Given the description of an element on the screen output the (x, y) to click on. 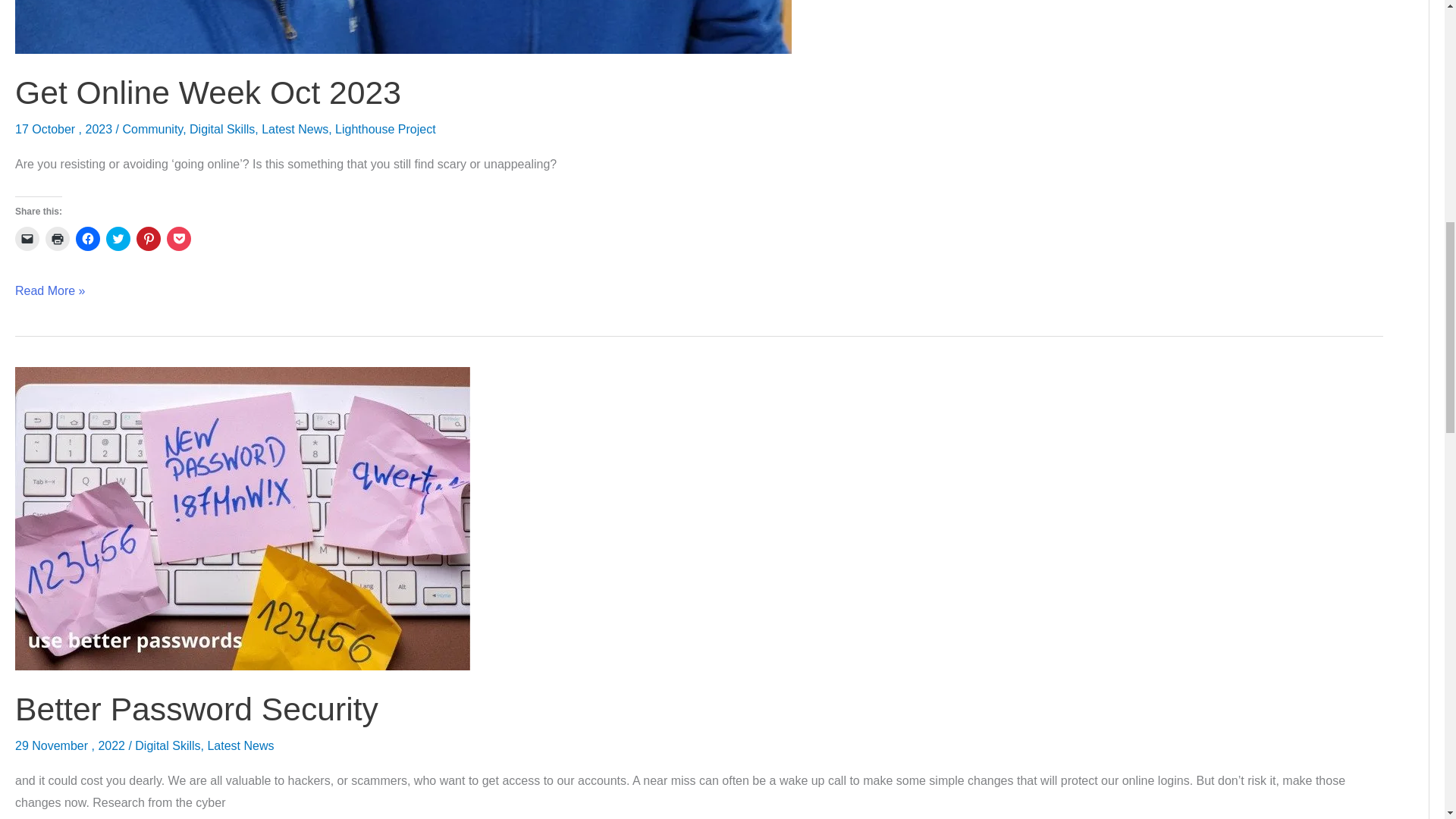
Click to print (57, 238)
Latest News (239, 745)
Better Password Security (196, 709)
Digital Skills (221, 128)
Get Online Week Oct 2023 (207, 92)
Community (152, 128)
Digital Skills (167, 745)
Latest News (295, 128)
Click to share on Facebook (87, 238)
Click to share on Pocket (178, 238)
